Given the description of an element on the screen output the (x, y) to click on. 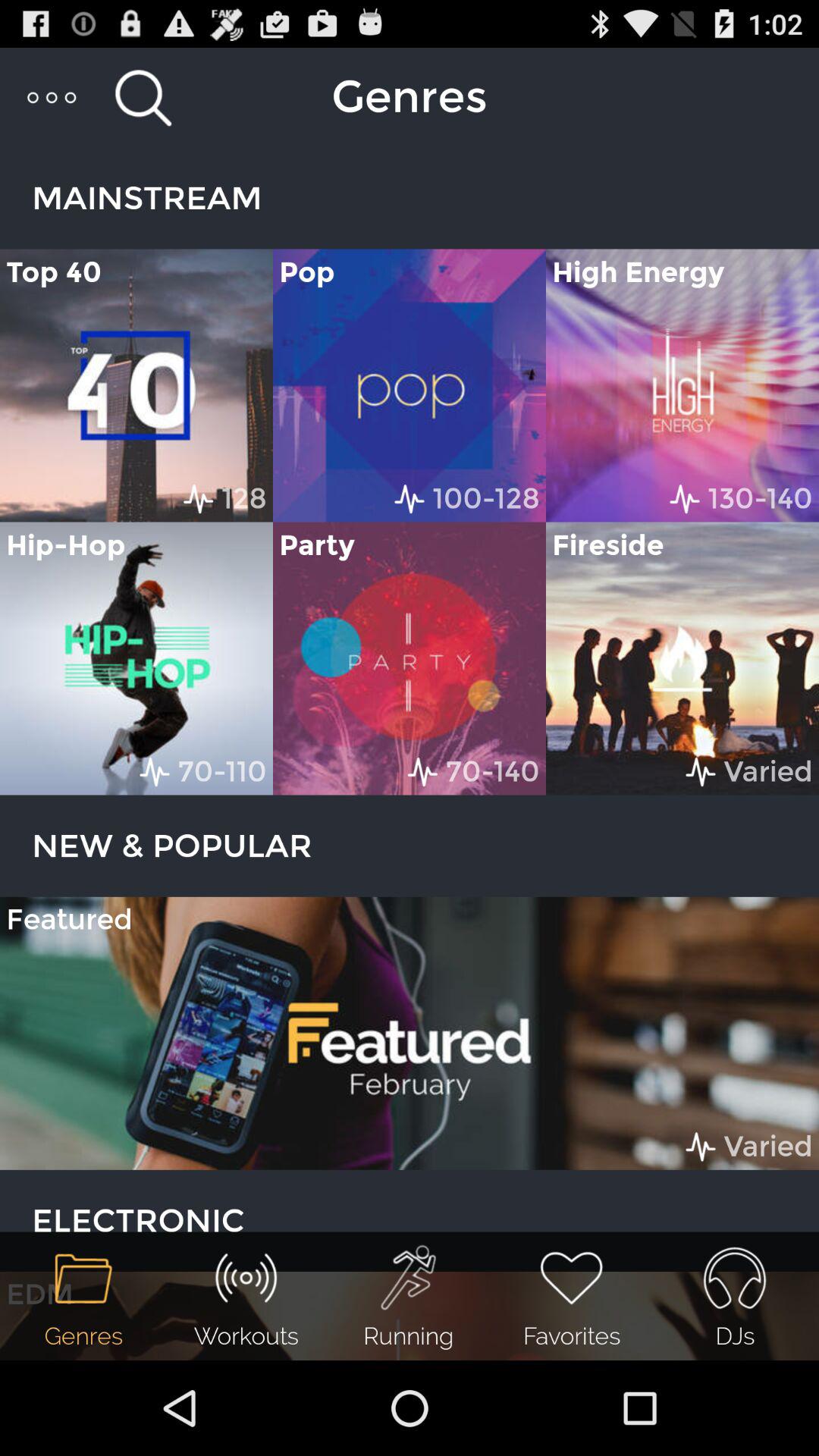
click item above mainstream (52, 97)
